Given the description of an element on the screen output the (x, y) to click on. 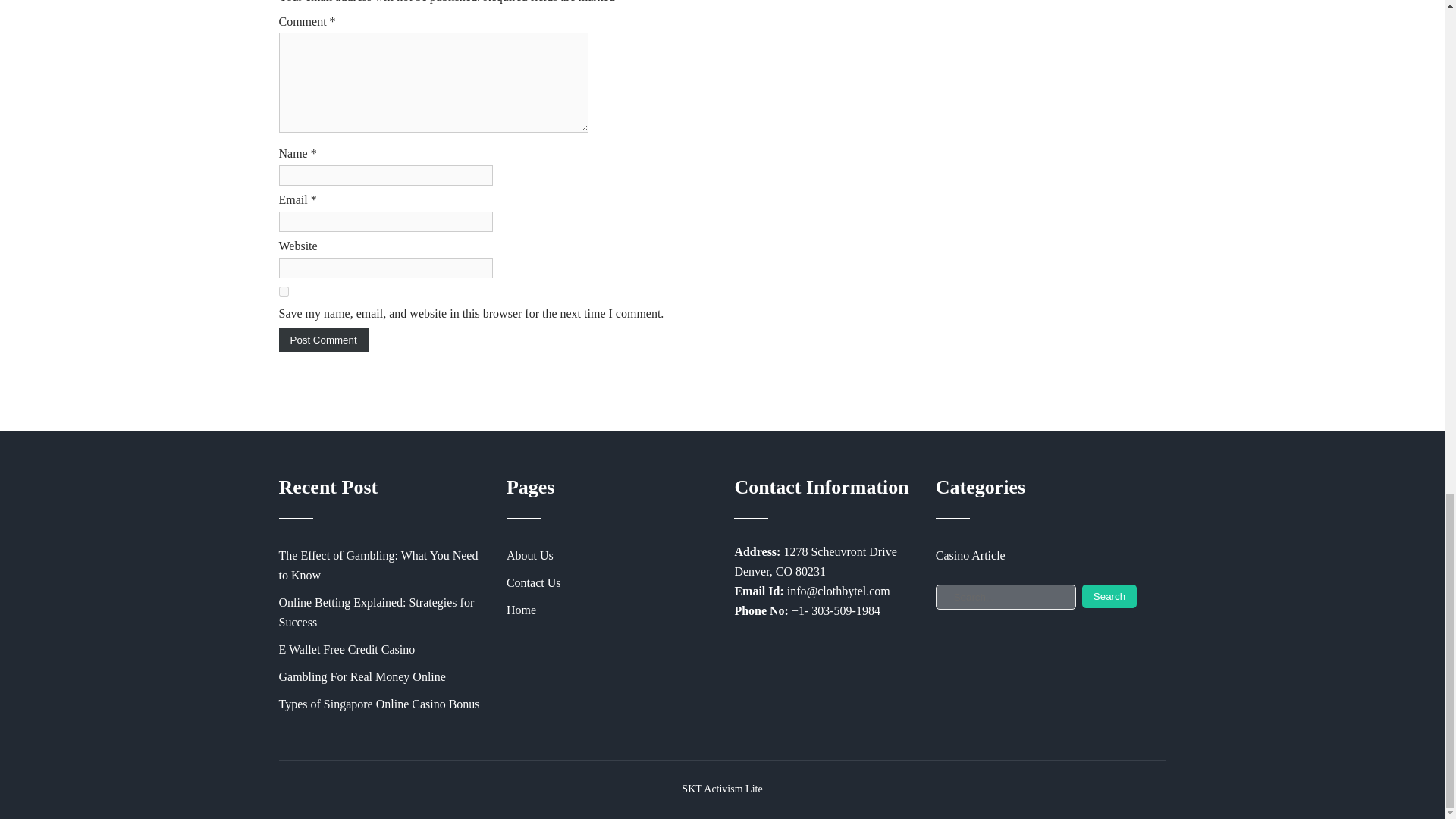
yes (283, 291)
Gambling For Real Money Online (379, 677)
Search (1109, 596)
Contact Us (606, 583)
Search (1109, 596)
Home (606, 610)
Search (1109, 596)
Post Comment (323, 340)
About Us (606, 555)
Types of Singapore Online Casino Bonus (379, 704)
